Given the description of an element on the screen output the (x, y) to click on. 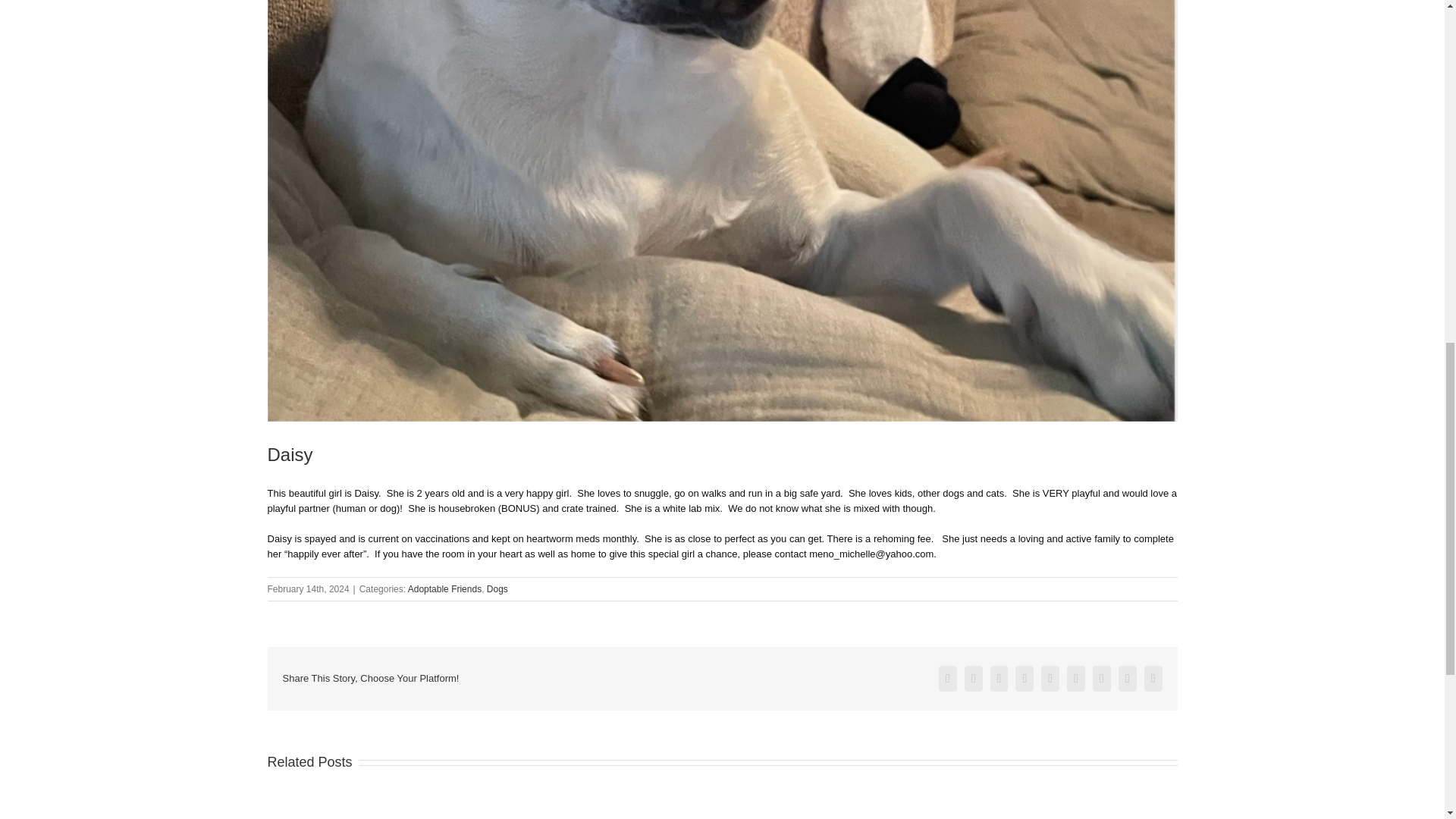
Reddit (1023, 678)
Dogs (497, 588)
Tumblr (1075, 678)
Reddit (1023, 678)
LinkedIn (999, 678)
Facebook (947, 678)
Twitter (972, 678)
LinkedIn (999, 678)
Twitter (972, 678)
Adoptable Friends (444, 588)
Facebook (947, 678)
